Given the description of an element on the screen output the (x, y) to click on. 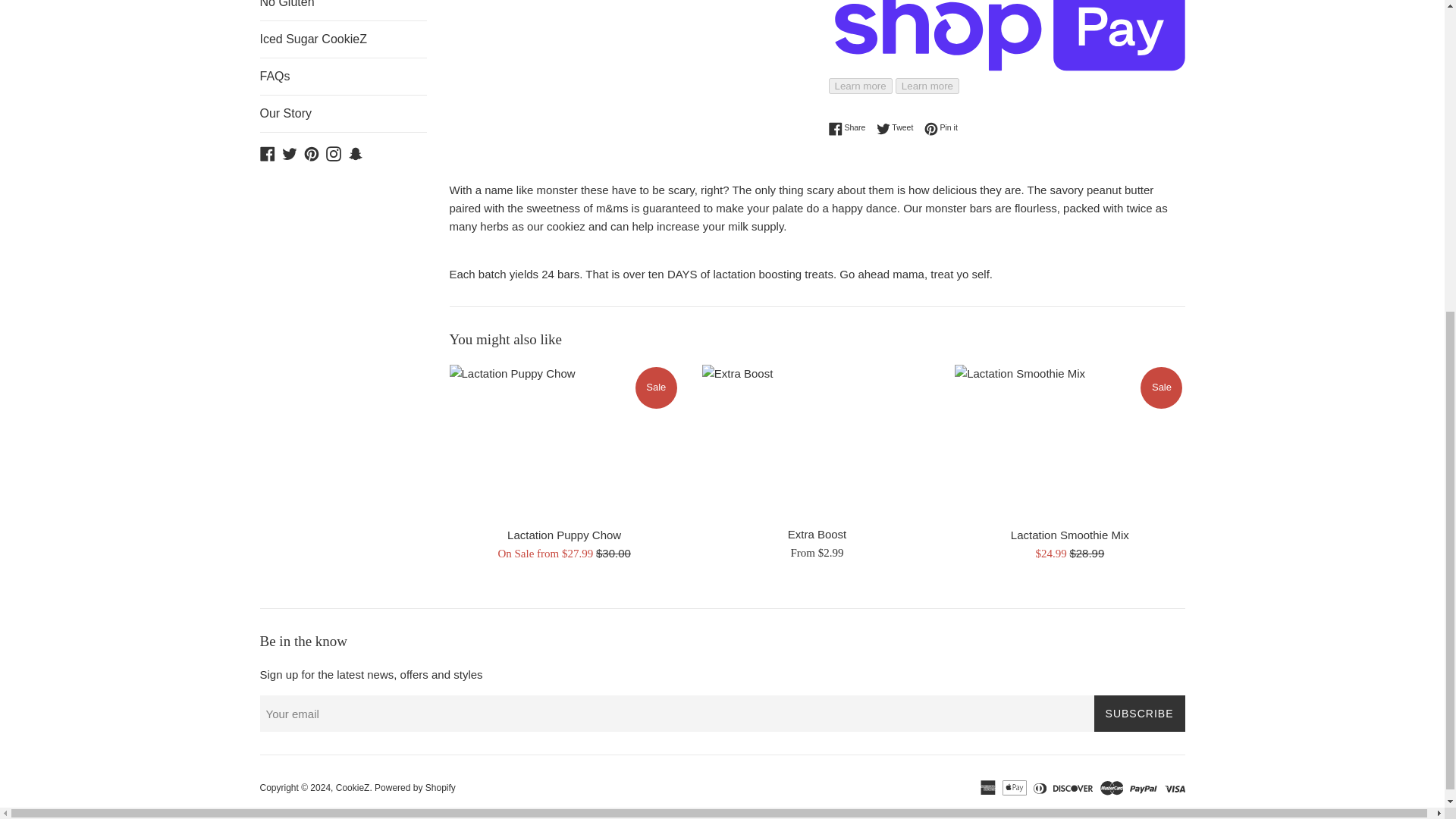
Extra Boost (817, 533)
Lactation Smoothie Mix (1069, 534)
CookieZ (352, 787)
Share on Facebook (850, 128)
CookieZ on Snapchat (354, 152)
Tweet on Twitter (898, 128)
Powered by Shopify (414, 787)
Extra Boost (941, 128)
FAQs (816, 440)
